Given the description of an element on the screen output the (x, y) to click on. 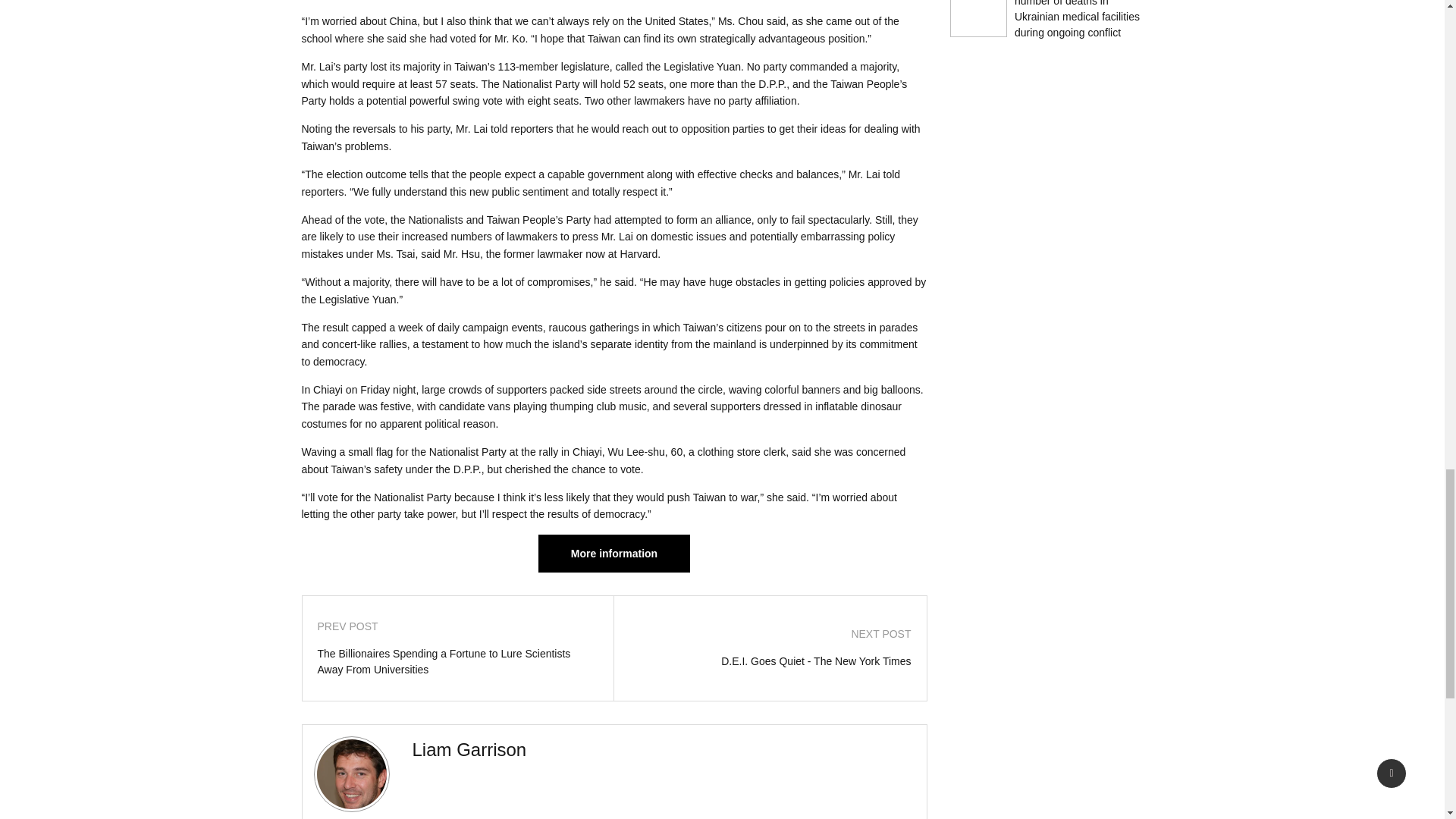
More information (614, 553)
D.E.I. Goes Quiet - The New York Times (769, 661)
